Given the description of an element on the screen output the (x, y) to click on. 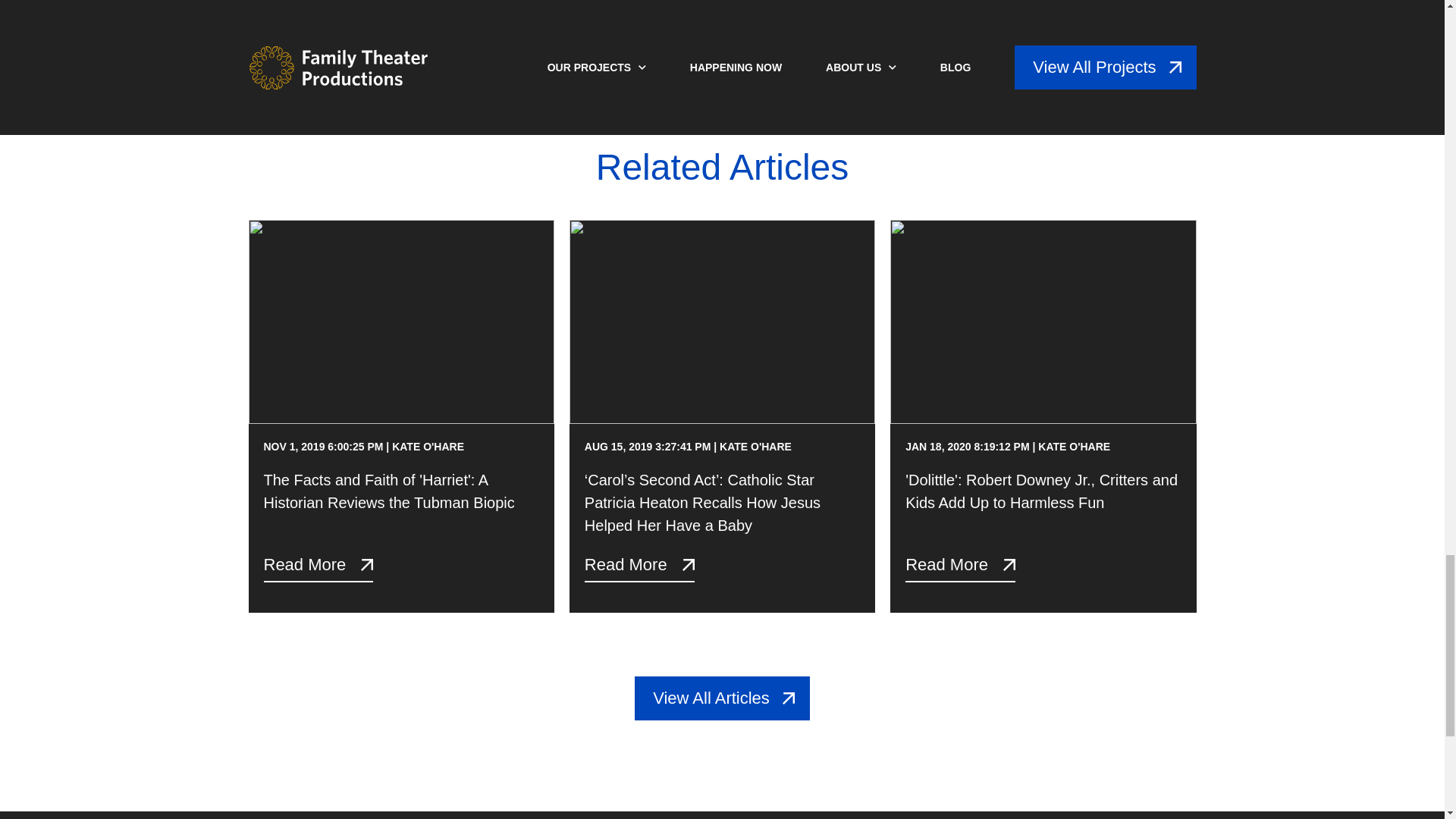
View All Articles (721, 698)
